Given the description of an element on the screen output the (x, y) to click on. 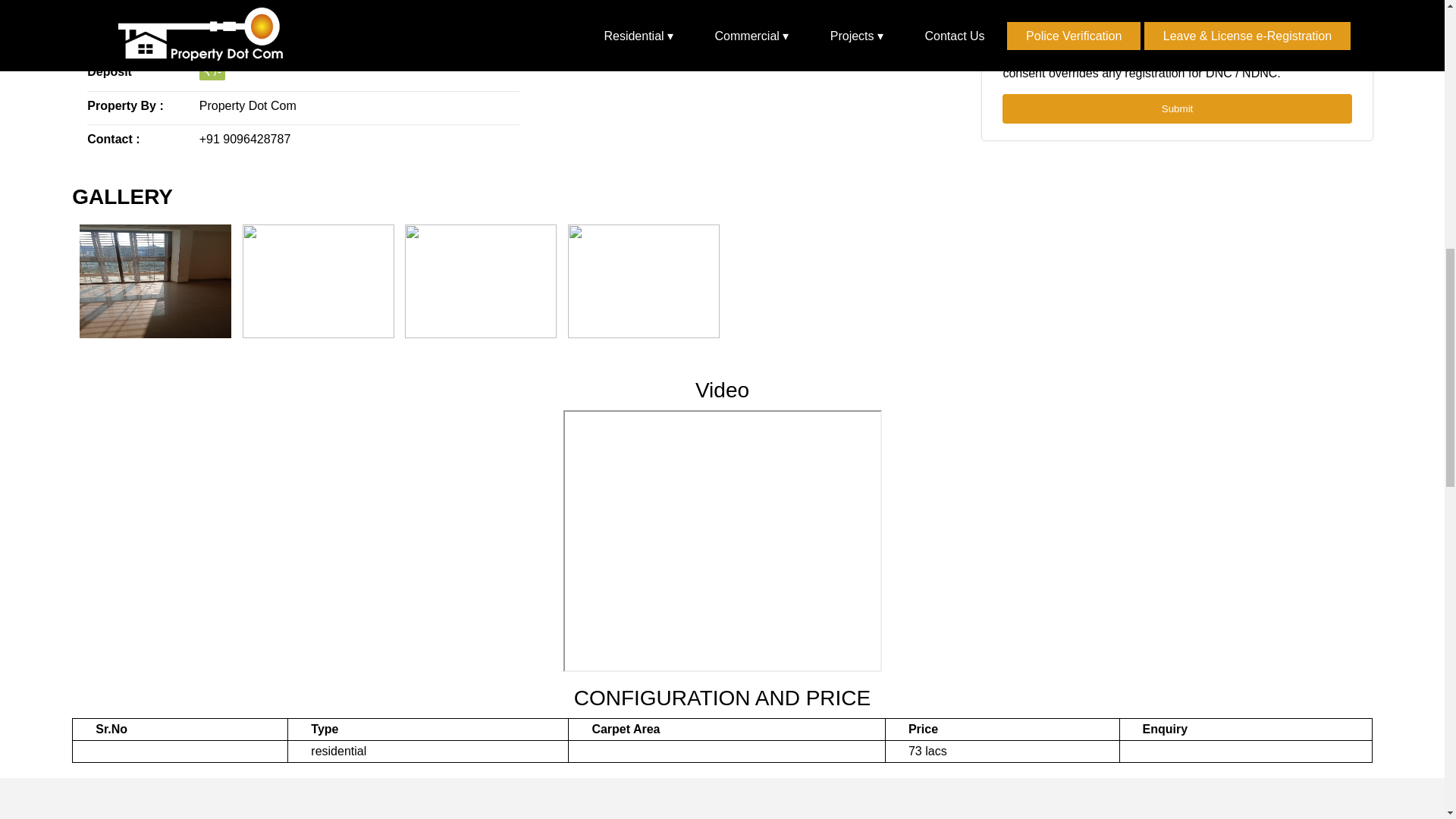
Submit (1177, 108)
on (1007, 44)
Submit (1177, 108)
